Given the description of an element on the screen output the (x, y) to click on. 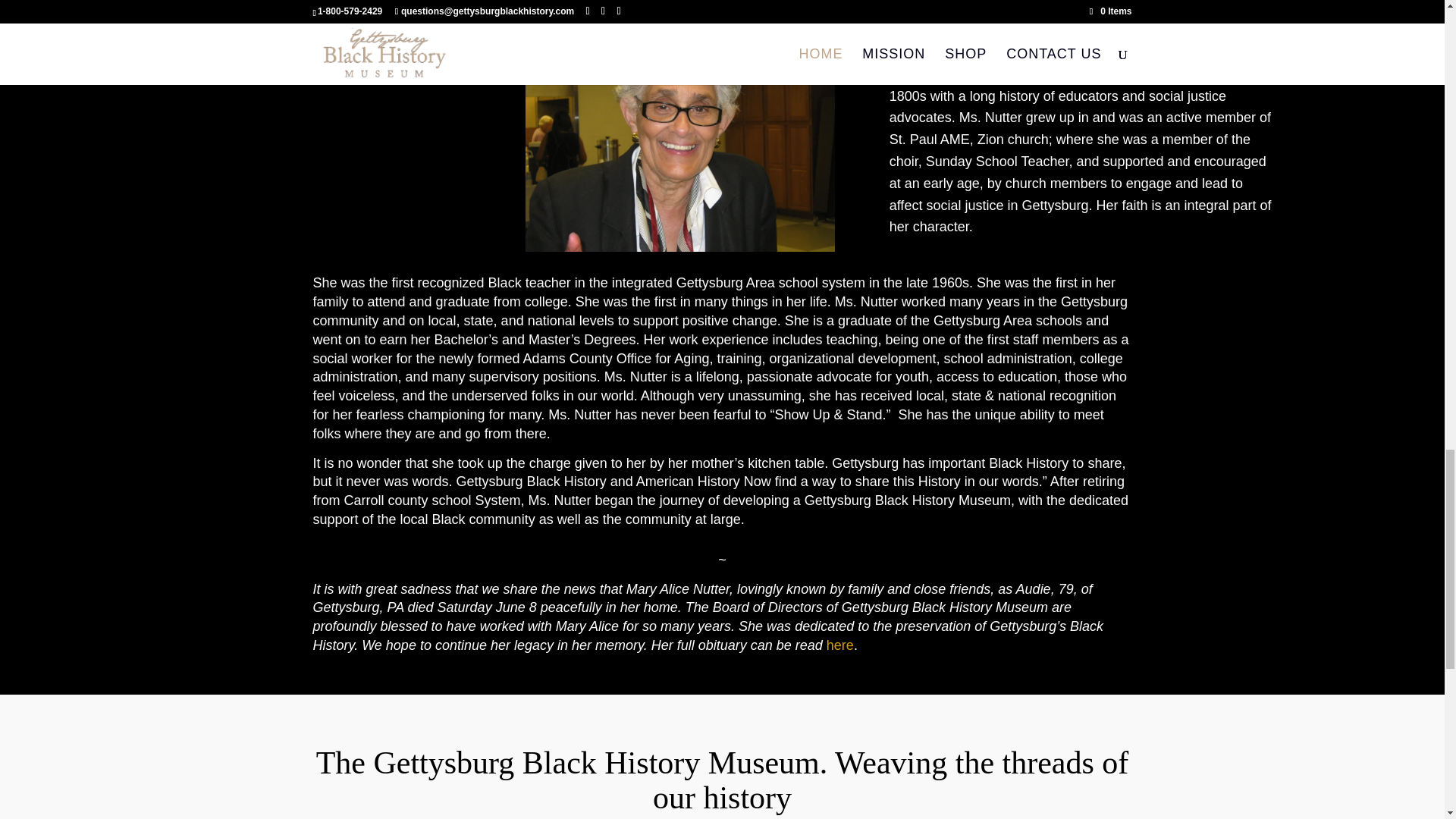
Mary Alice Nutter Obituary (840, 645)
here (840, 645)
Audie 5 7 2010 (679, 135)
